Given the description of an element on the screen output the (x, y) to click on. 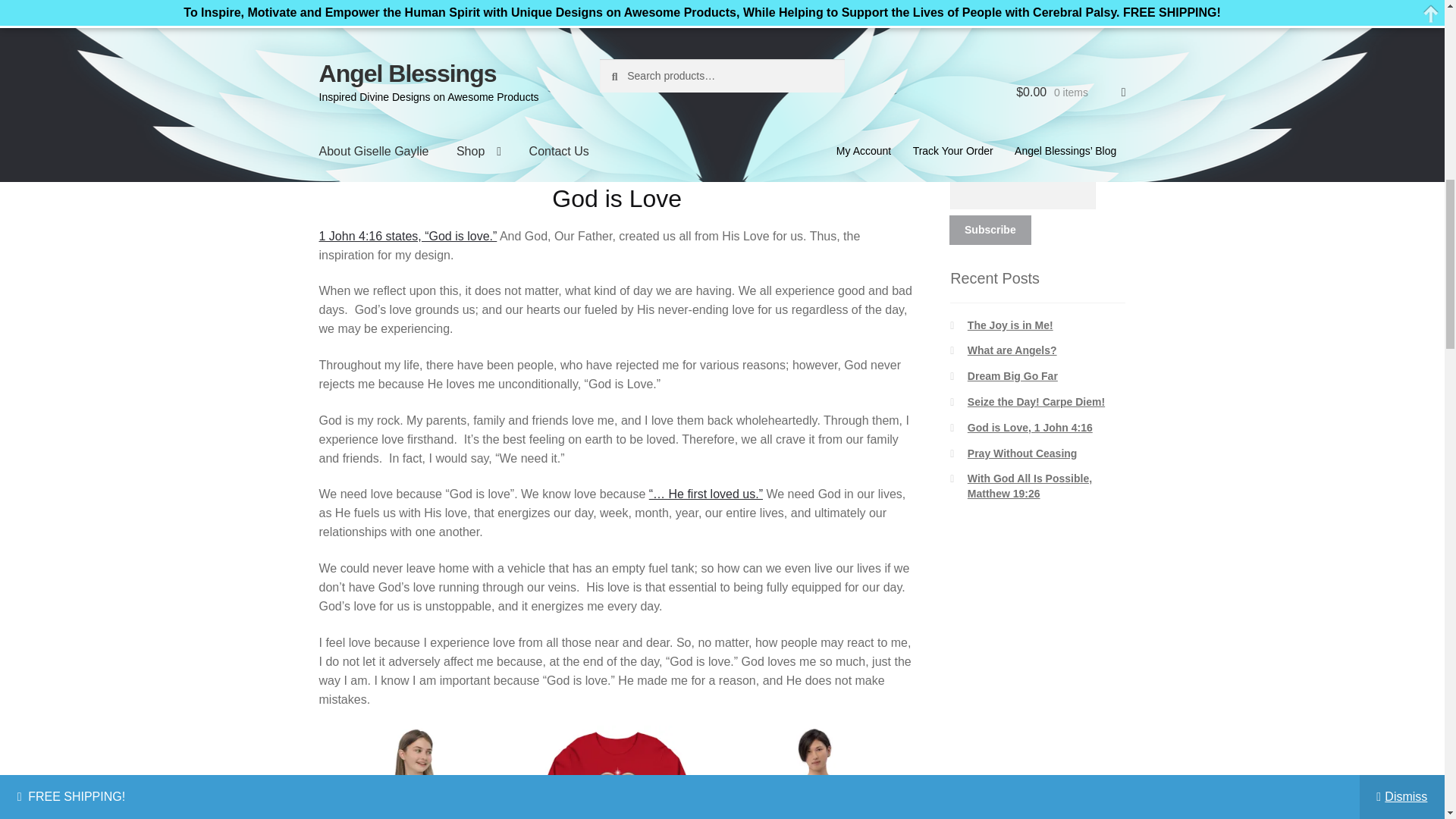
Subscribe (989, 229)
